Given the description of an element on the screen output the (x, y) to click on. 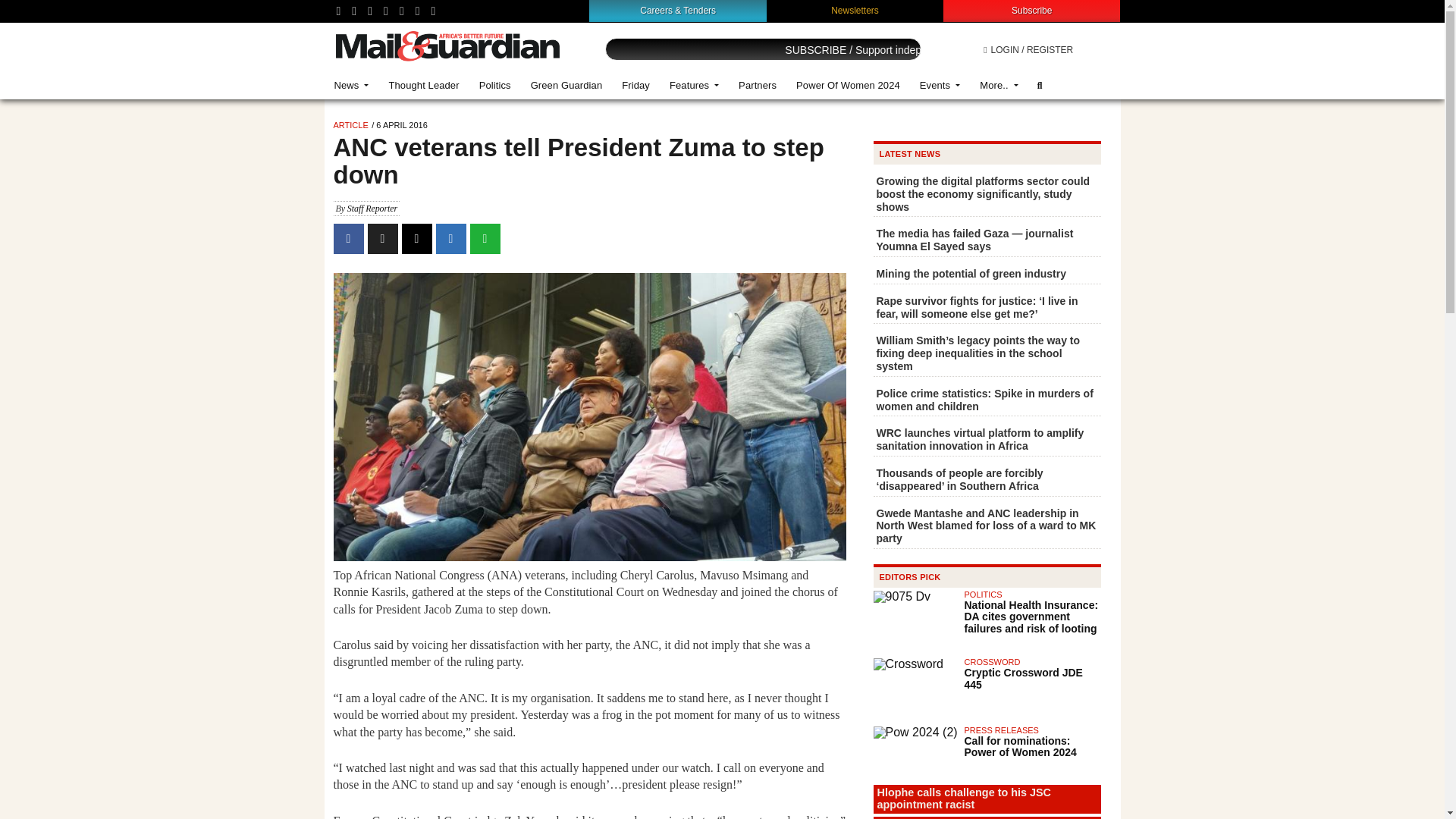
Subscribe (1031, 9)
Features (694, 85)
Newsletters (855, 9)
News (351, 85)
News (351, 85)
Thought Leader (423, 85)
Green Guardian (566, 85)
Politics (494, 85)
Friday (635, 85)
